Given the description of an element on the screen output the (x, y) to click on. 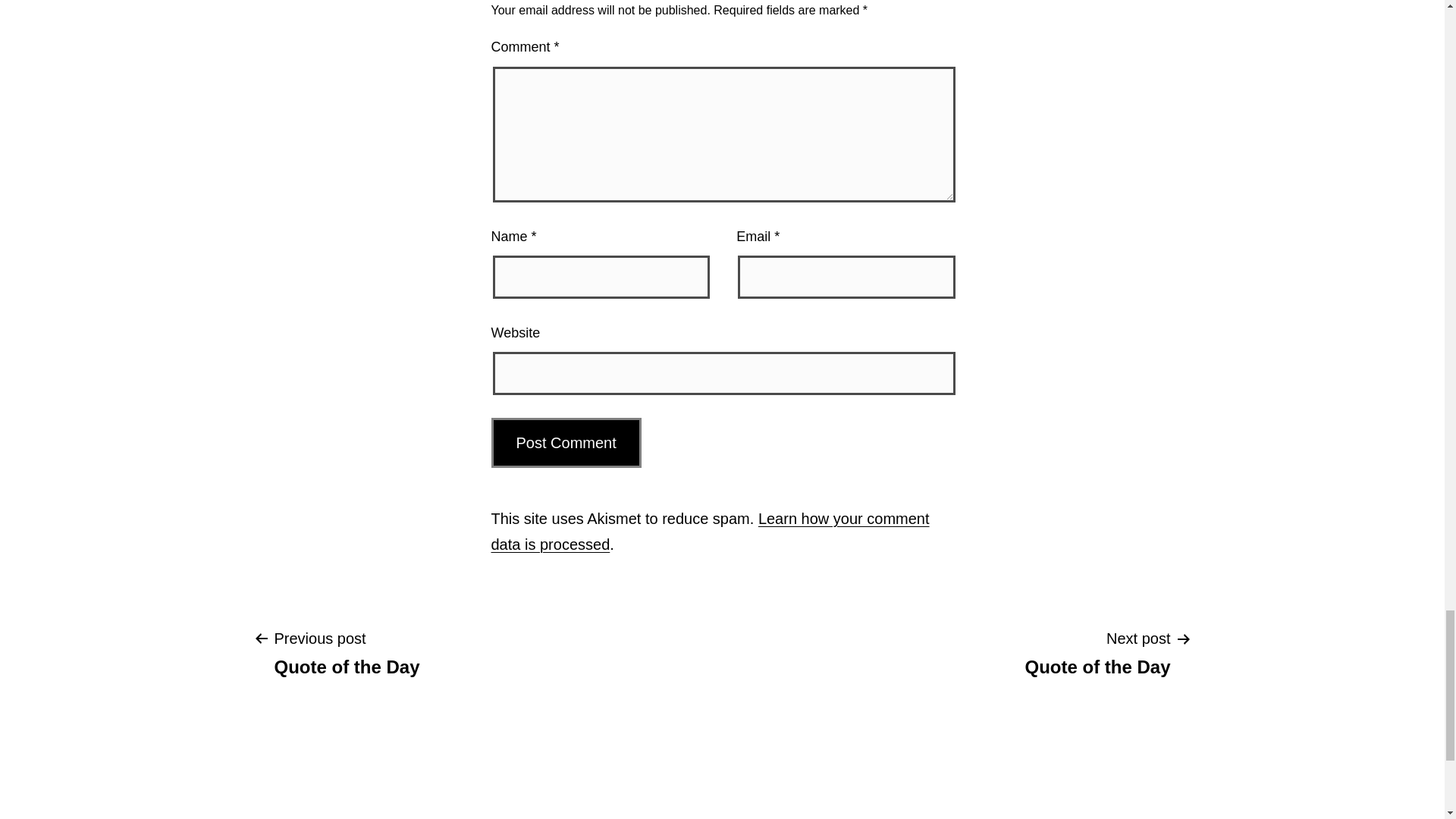
Post Comment (567, 442)
